Given the description of an element on the screen output the (x, y) to click on. 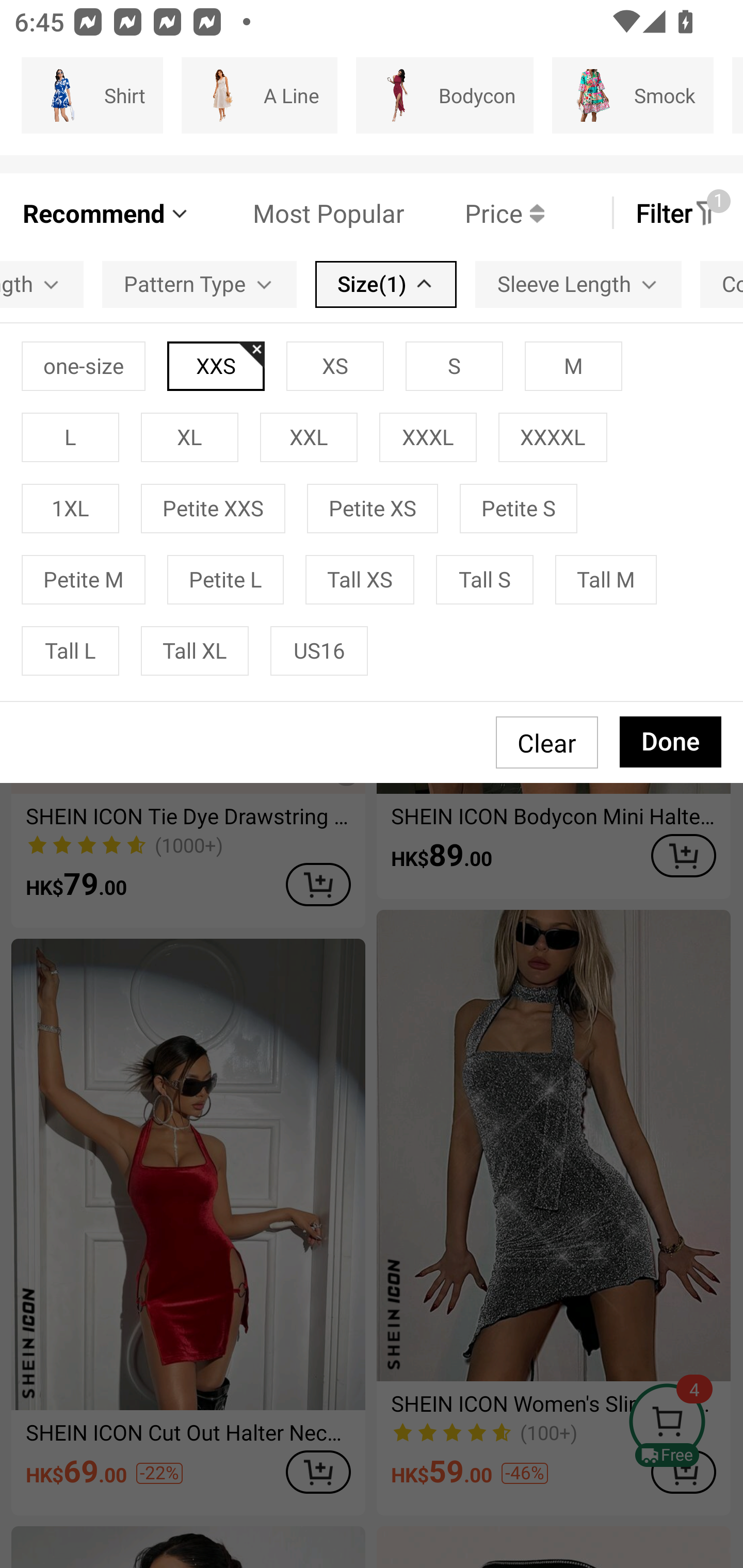
Shirt (91, 95)
A Line (259, 95)
Bodycon (444, 95)
Smock (632, 95)
Recommend (106, 213)
Most Popular (297, 213)
Price (474, 213)
Filter 1 (677, 213)
Length (41, 283)
Pattern Type (199, 283)
Size(1) (385, 283)
Sleeve Length (578, 283)
